Given the description of an element on the screen output the (x, y) to click on. 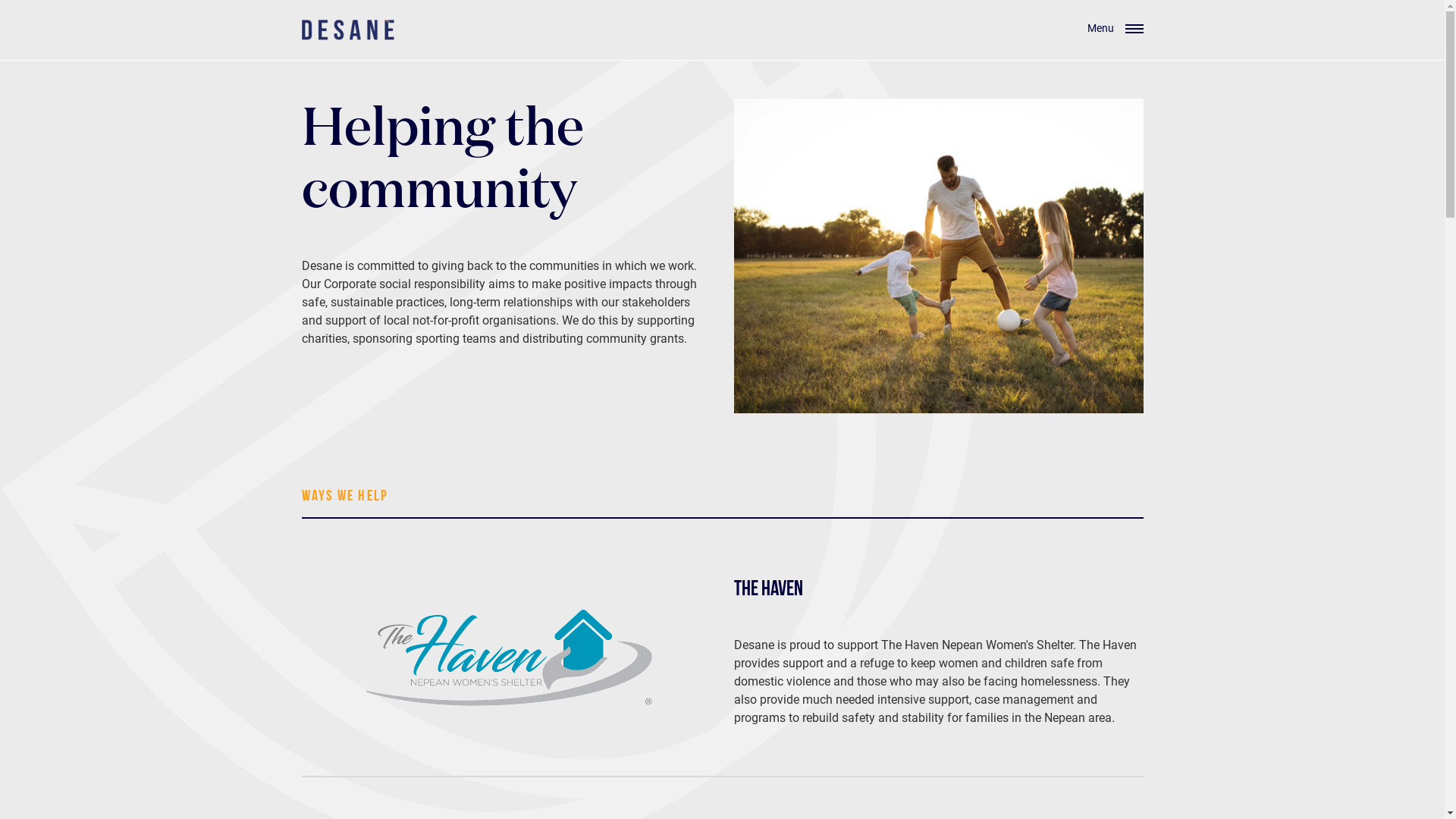
News Element type: text (460, 743)
Privacy Policy Element type: text (512, 800)
Home Element type: text (461, 670)
Developments Element type: text (483, 706)
Investors Element type: text (469, 725)
About Element type: text (461, 688)
Contact Element type: text (466, 761)
